Given the description of an element on the screen output the (x, y) to click on. 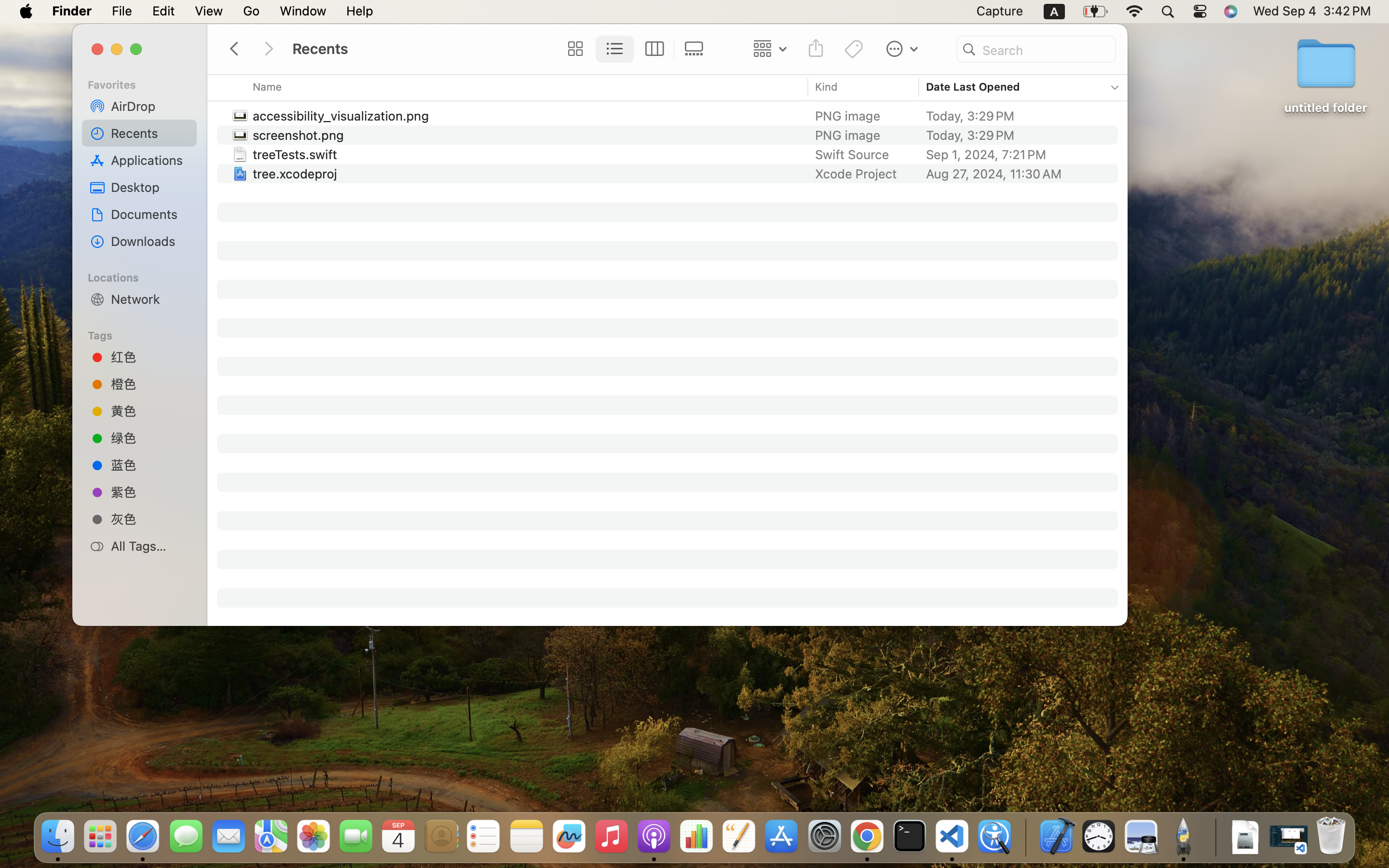
Recents Element type: AXStaticText (149, 132)
accessibility_visualization.png Element type: AXTextField (342, 115)
Name Element type: AXStaticText (267, 86)
Locations Element type: AXStaticText (144, 276)
橙色 Element type: AXStaticText (149, 383)
